Given the description of an element on the screen output the (x, y) to click on. 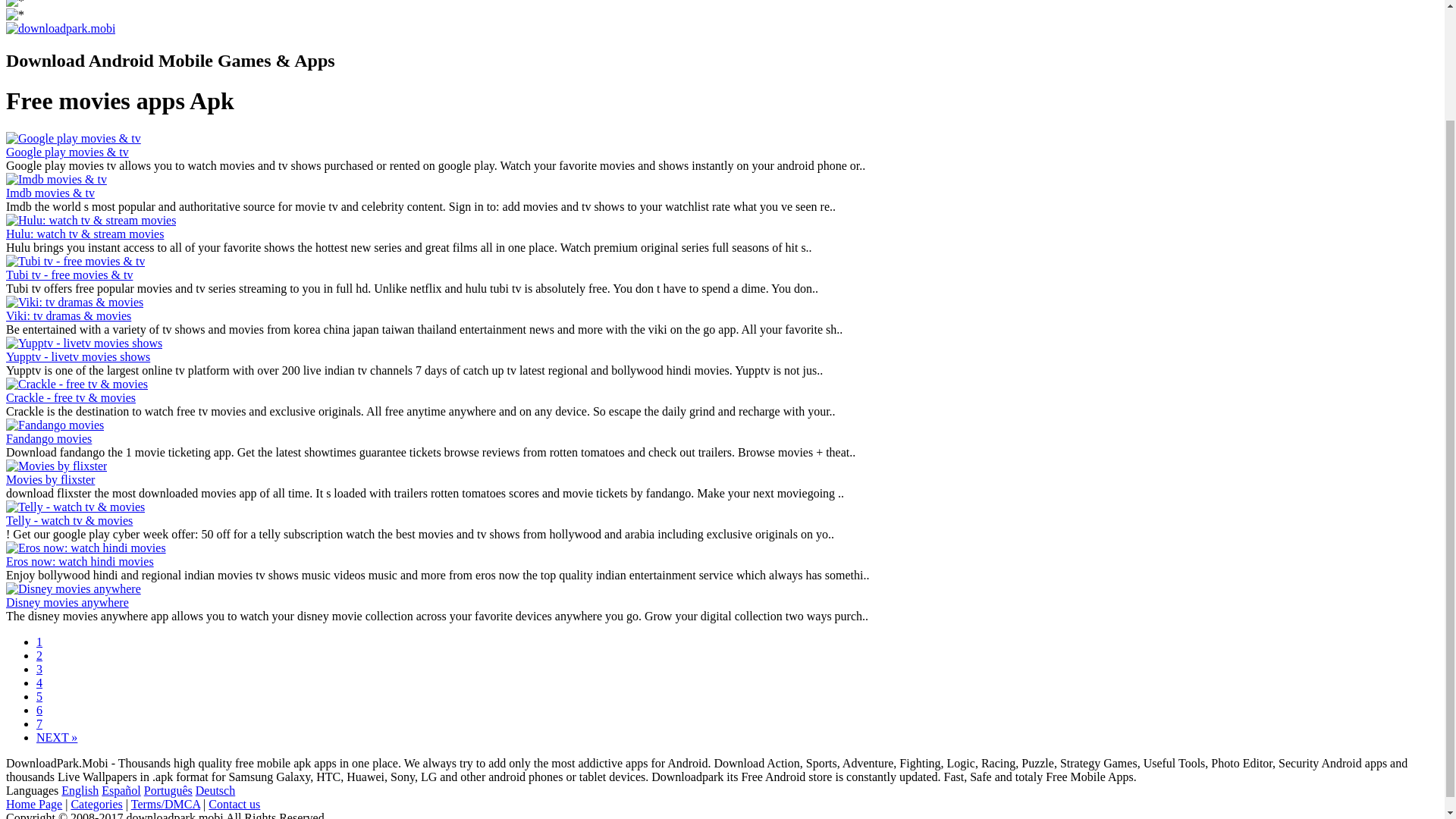
English (80, 789)
